Given the description of an element on the screen output the (x, y) to click on. 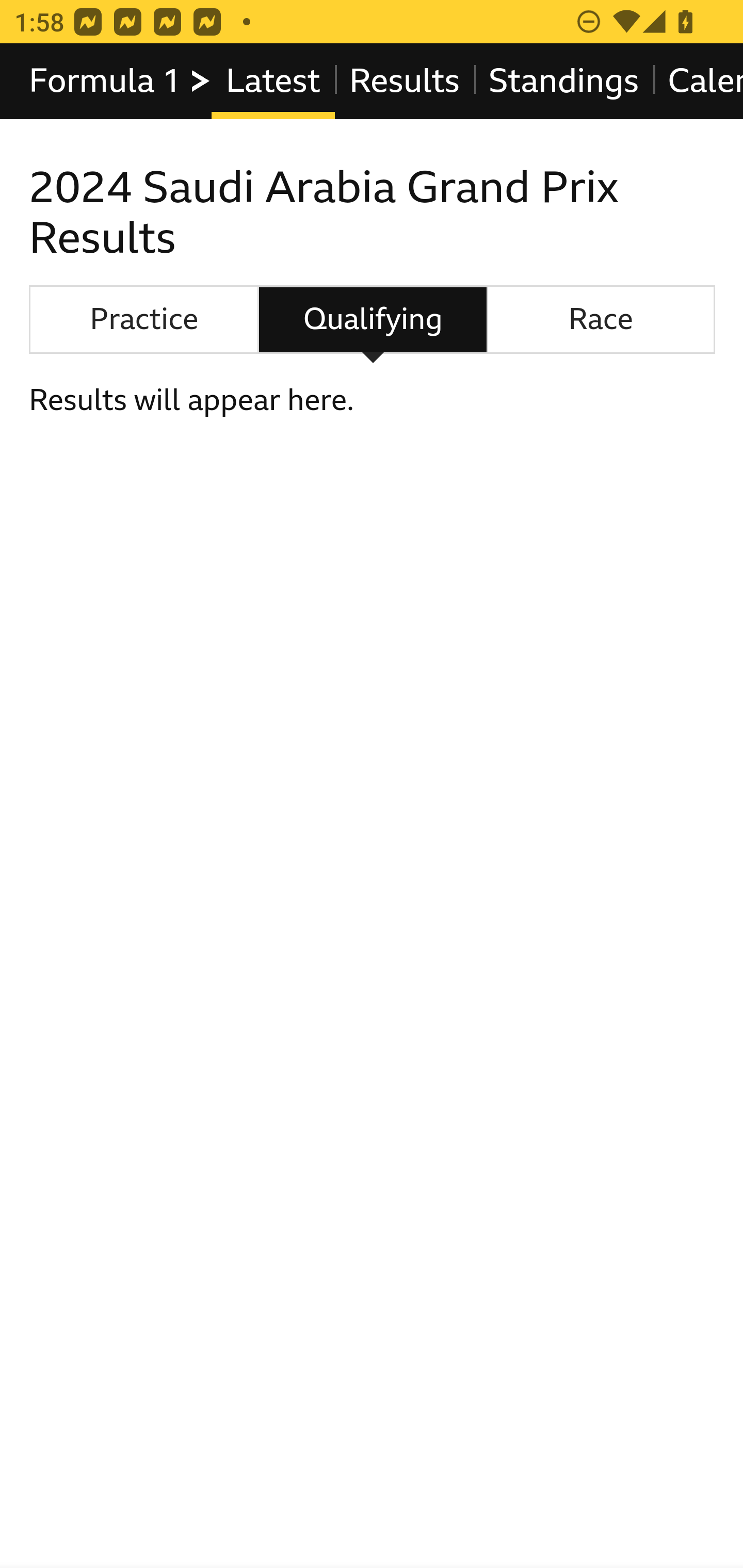
Formula 1  (120, 81)
Latest (272, 81)
Results (403, 81)
Standings (564, 81)
Practice (142, 319)
Qualifying (372, 319)
Race (600, 319)
